Given the description of an element on the screen output the (x, y) to click on. 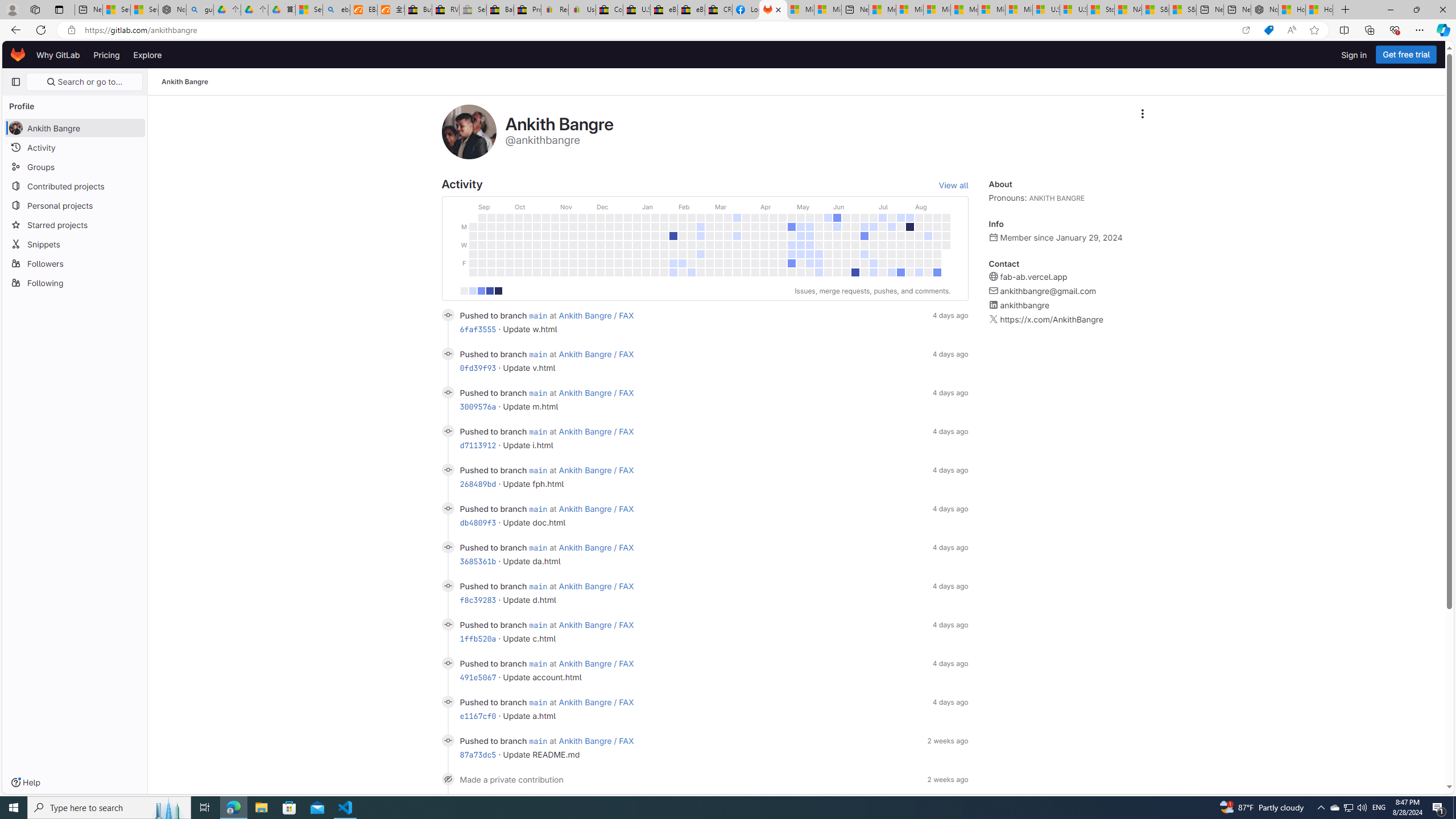
87a73dc5 (478, 754)
